Given the description of an element on the screen output the (x, y) to click on. 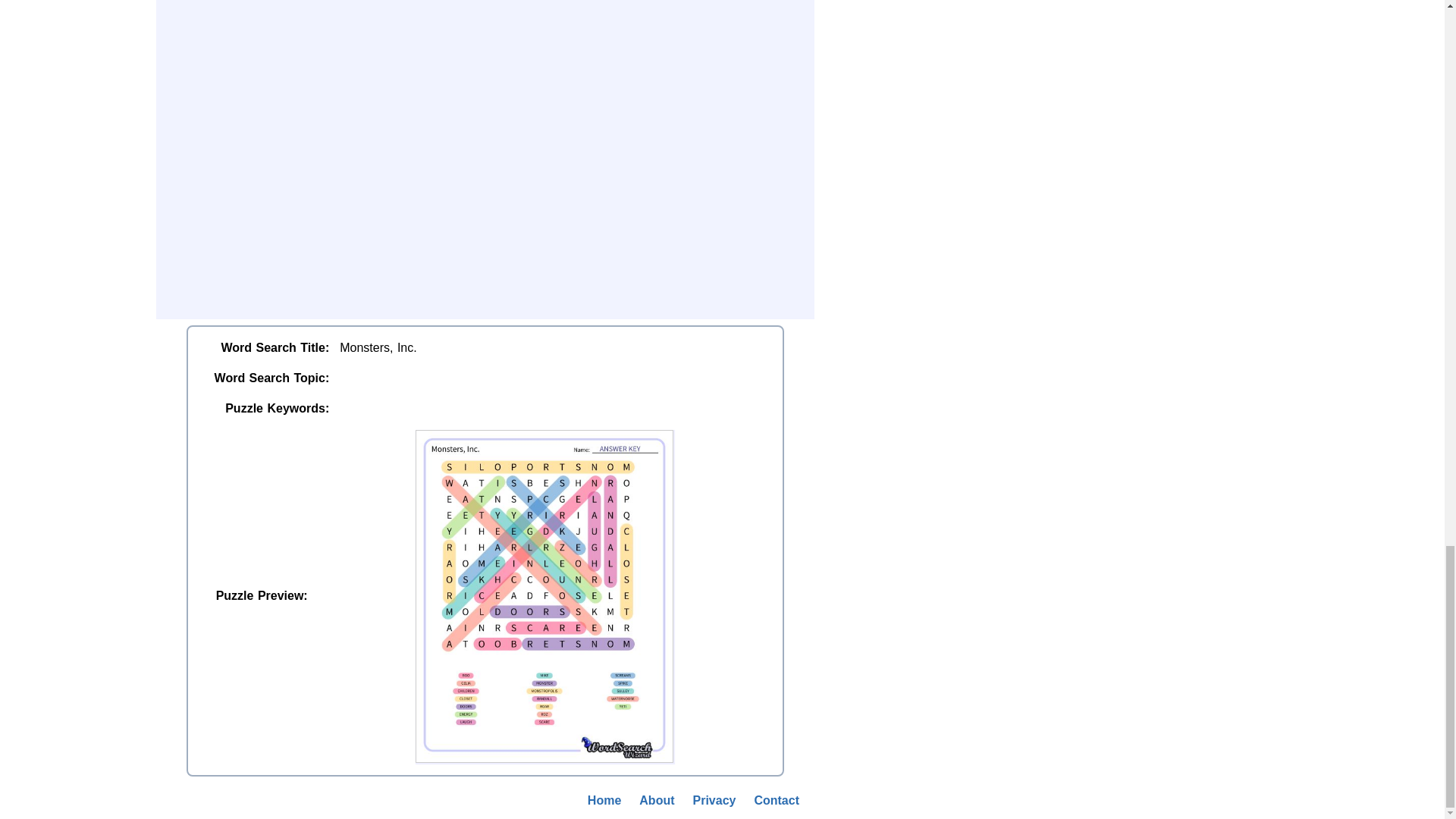
About (656, 800)
Privacy (714, 800)
Home (604, 800)
Contact (776, 800)
